Given the description of an element on the screen output the (x, y) to click on. 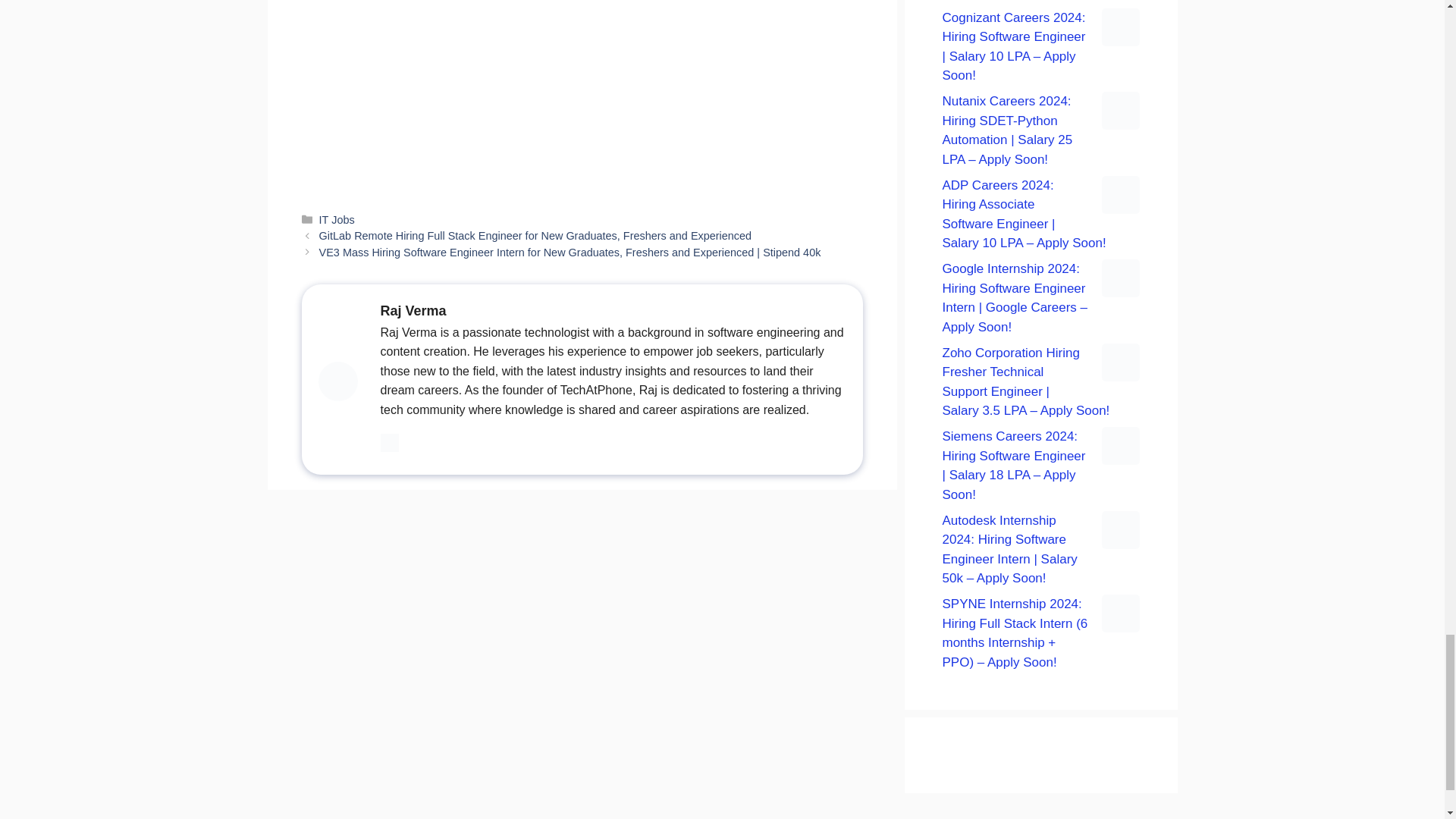
IT Jobs (336, 219)
